Given the description of an element on the screen output the (x, y) to click on. 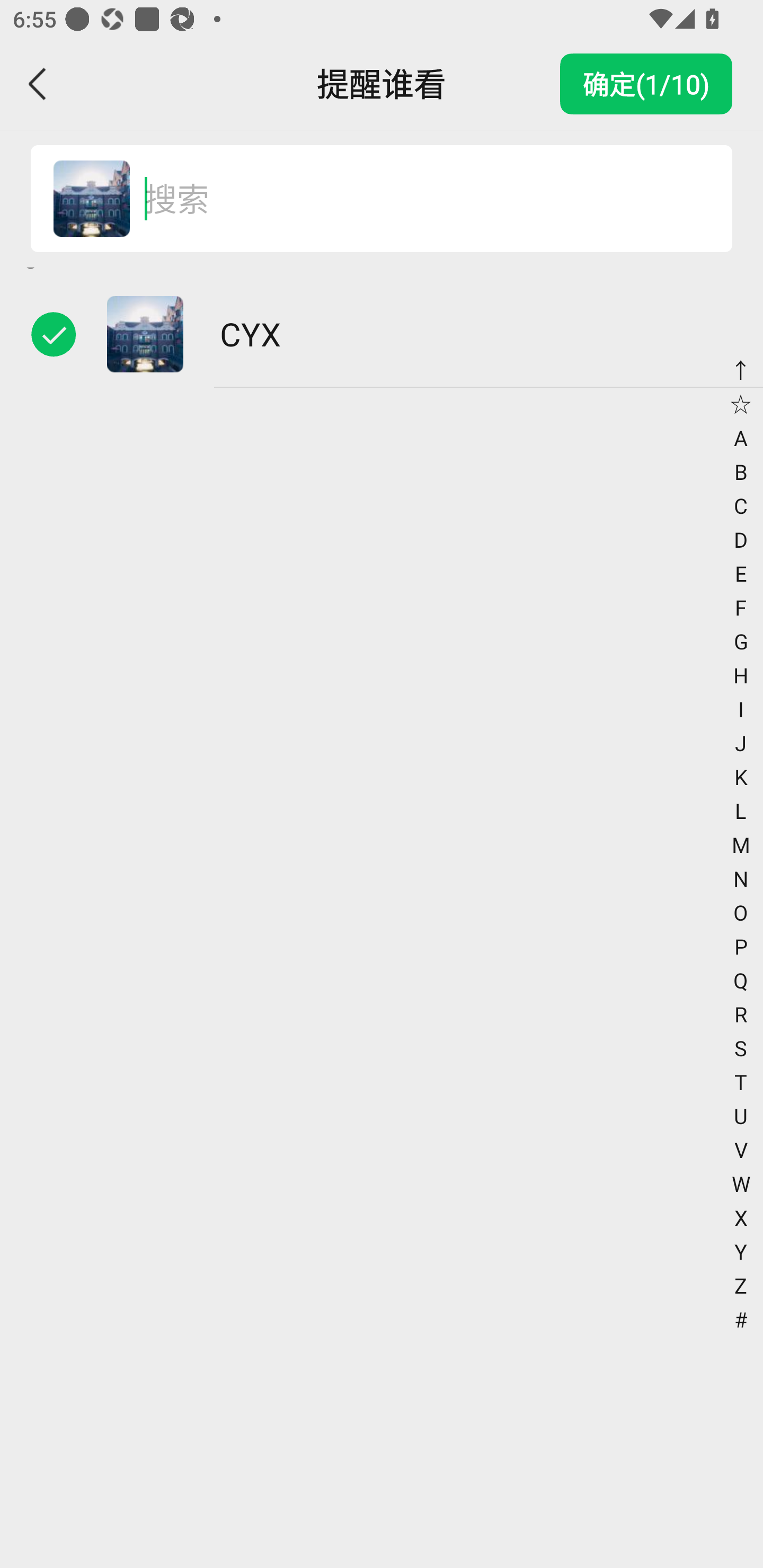
返回 (38, 83)
确定(1/10) (646, 83)
CYX (91, 198)
搜索 (418, 198)
CYX (381, 333)
